Given the description of an element on the screen output the (x, y) to click on. 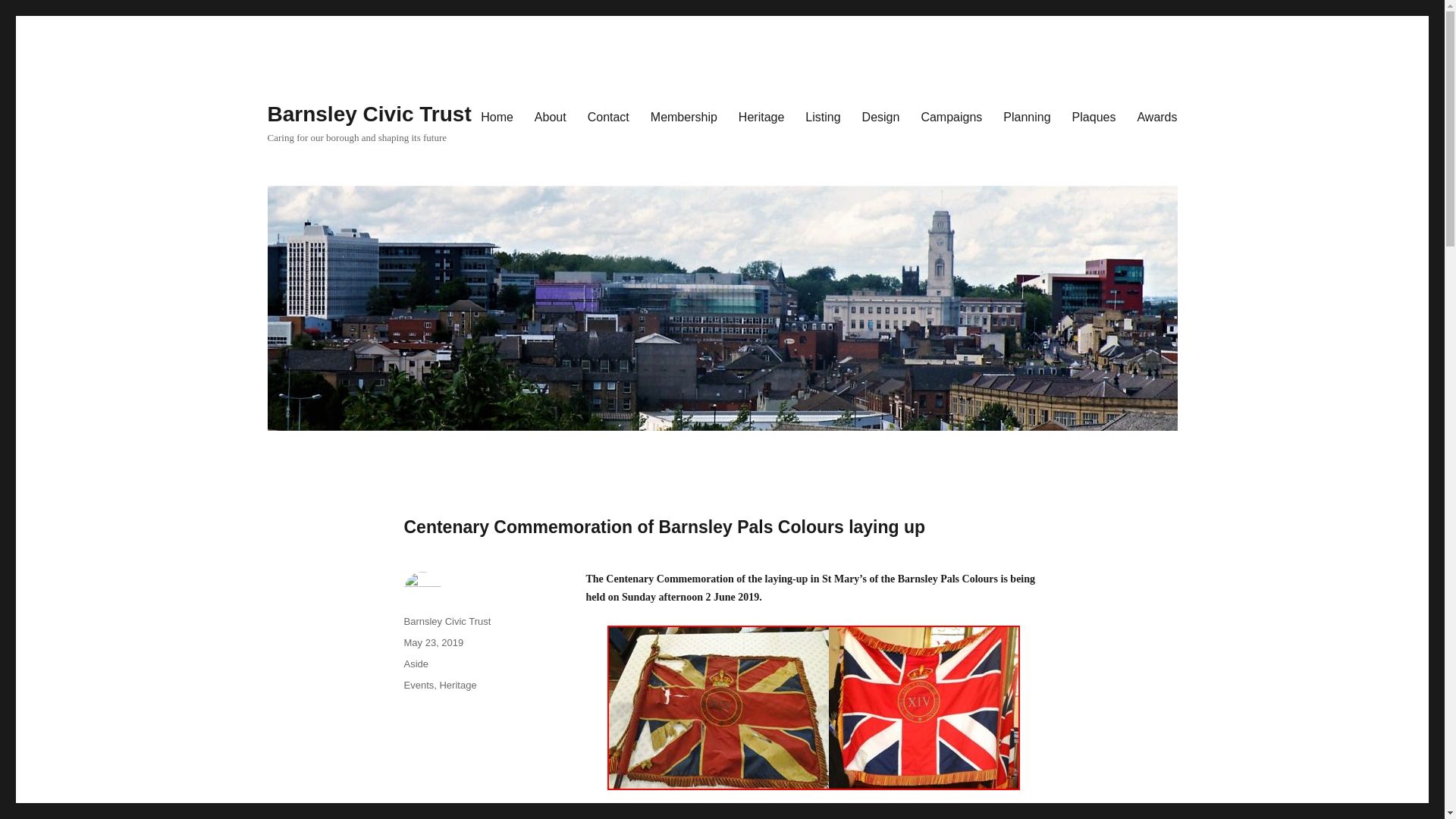
Barnsley Civic Trust (446, 621)
Contact (608, 116)
About (550, 116)
Awards (1156, 116)
Plaques (1093, 116)
May 23, 2019 (433, 642)
Design (881, 116)
Home (497, 116)
Aside (415, 663)
Membership (684, 116)
